Given the description of an element on the screen output the (x, y) to click on. 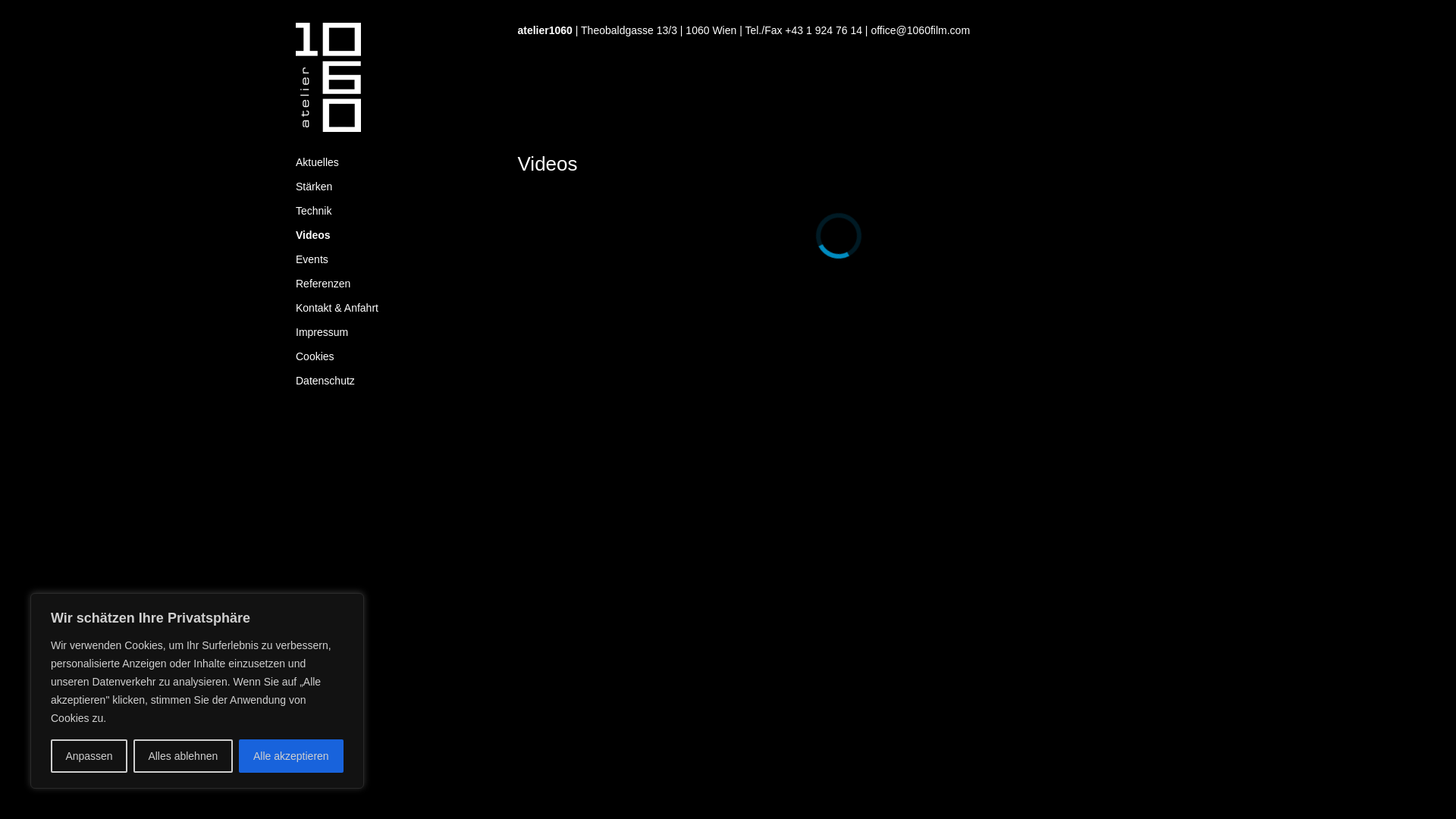
Anpassen Element type: text (88, 755)
Alles ablehnen Element type: text (182, 755)
Impressum Element type: text (395, 331)
Aktuelles Element type: text (395, 161)
Datenschutz Element type: text (395, 380)
Cookies Element type: text (395, 356)
Alle akzeptieren Element type: text (290, 755)
Events Element type: text (395, 258)
Kontakt & Anfahrt Element type: text (395, 307)
office@1060film.com Element type: text (919, 30)
Videos Element type: text (395, 234)
Technik Element type: text (395, 210)
Referenzen Element type: text (395, 283)
